Given the description of an element on the screen output the (x, y) to click on. 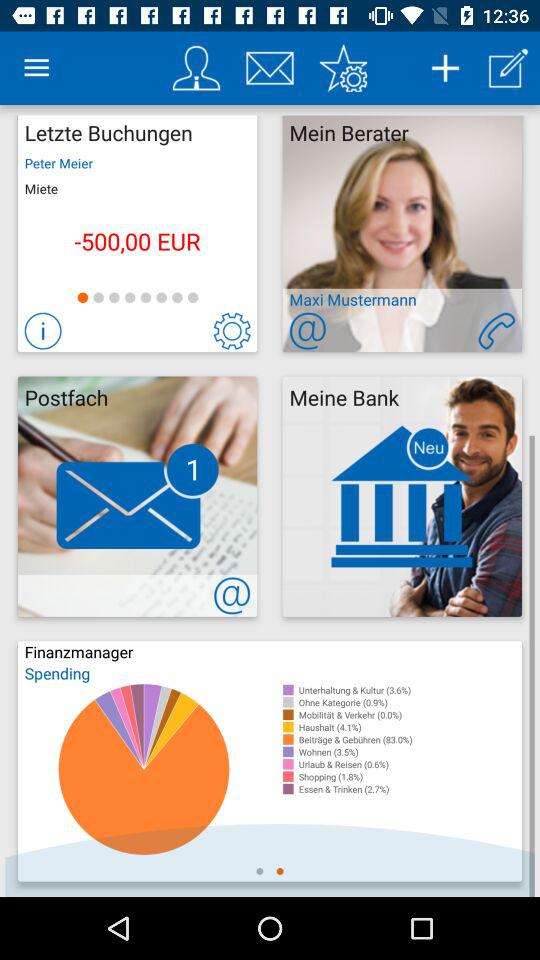
turn on the icon above the haushalt (4.1%) item (409, 714)
